Given the description of an element on the screen output the (x, y) to click on. 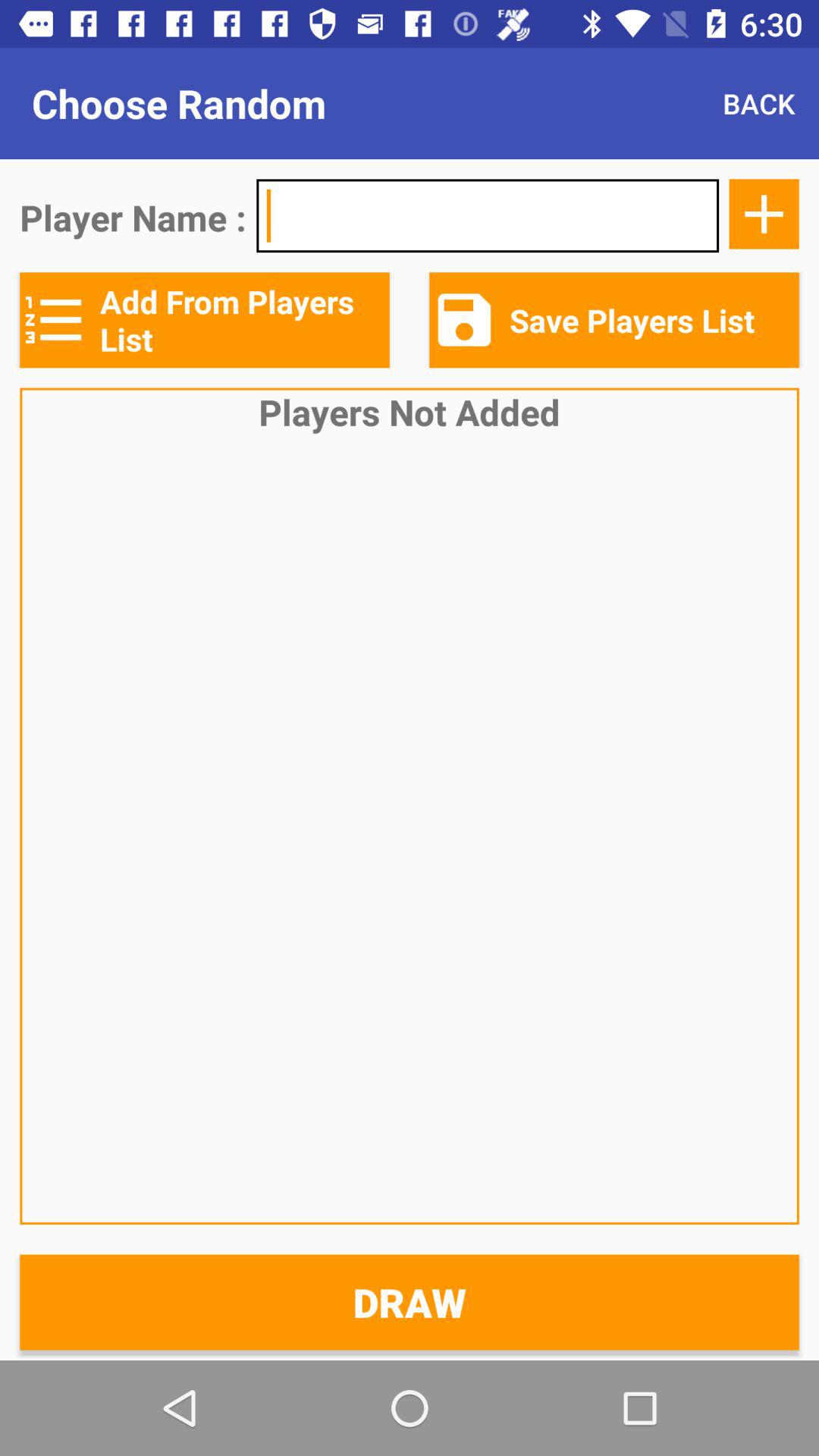
go to increase (764, 214)
